Given the description of an element on the screen output the (x, y) to click on. 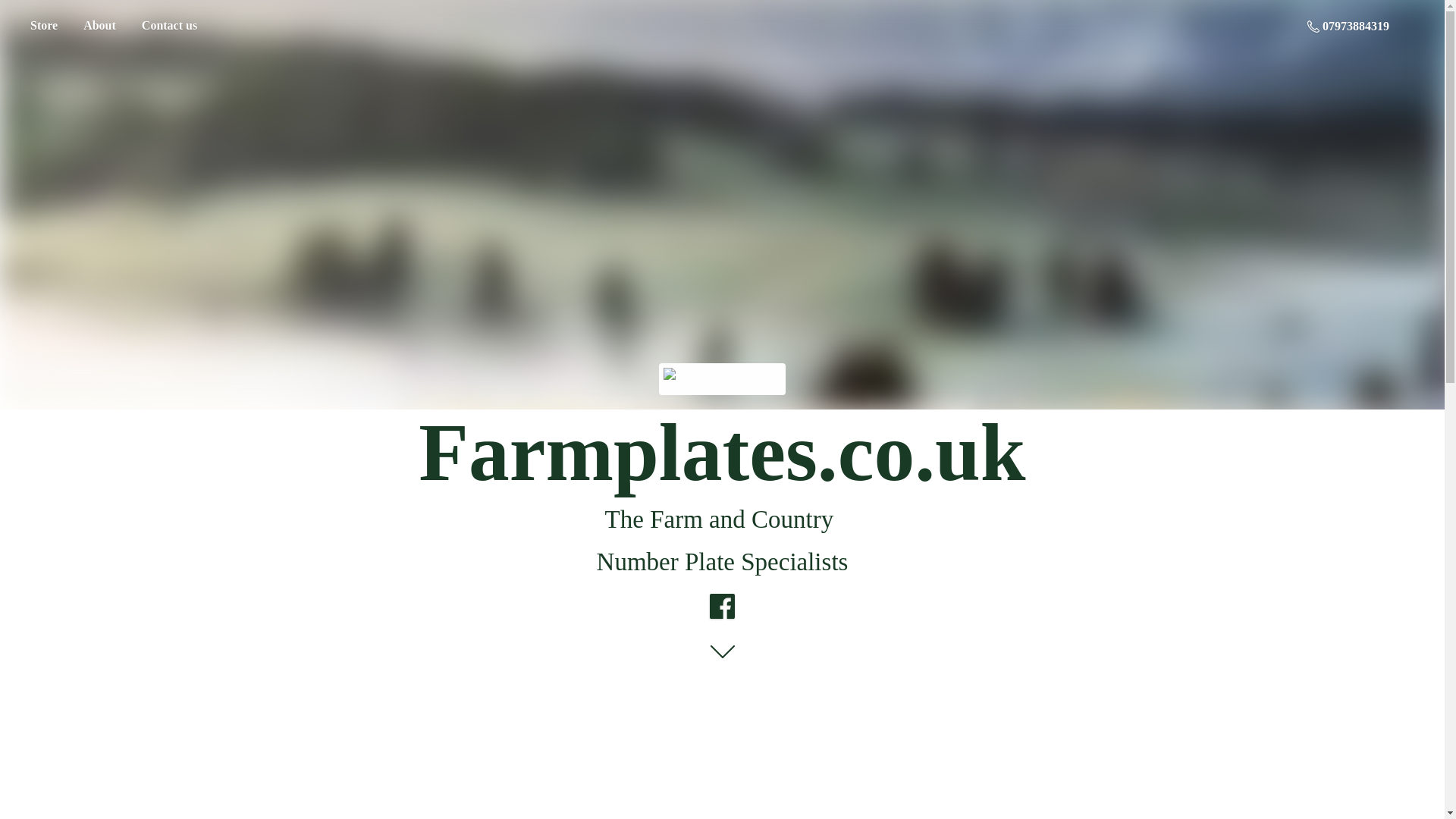
About (99, 25)
Store (43, 25)
07973884319 (1348, 26)
Contact us (169, 25)
